Given the description of an element on the screen output the (x, y) to click on. 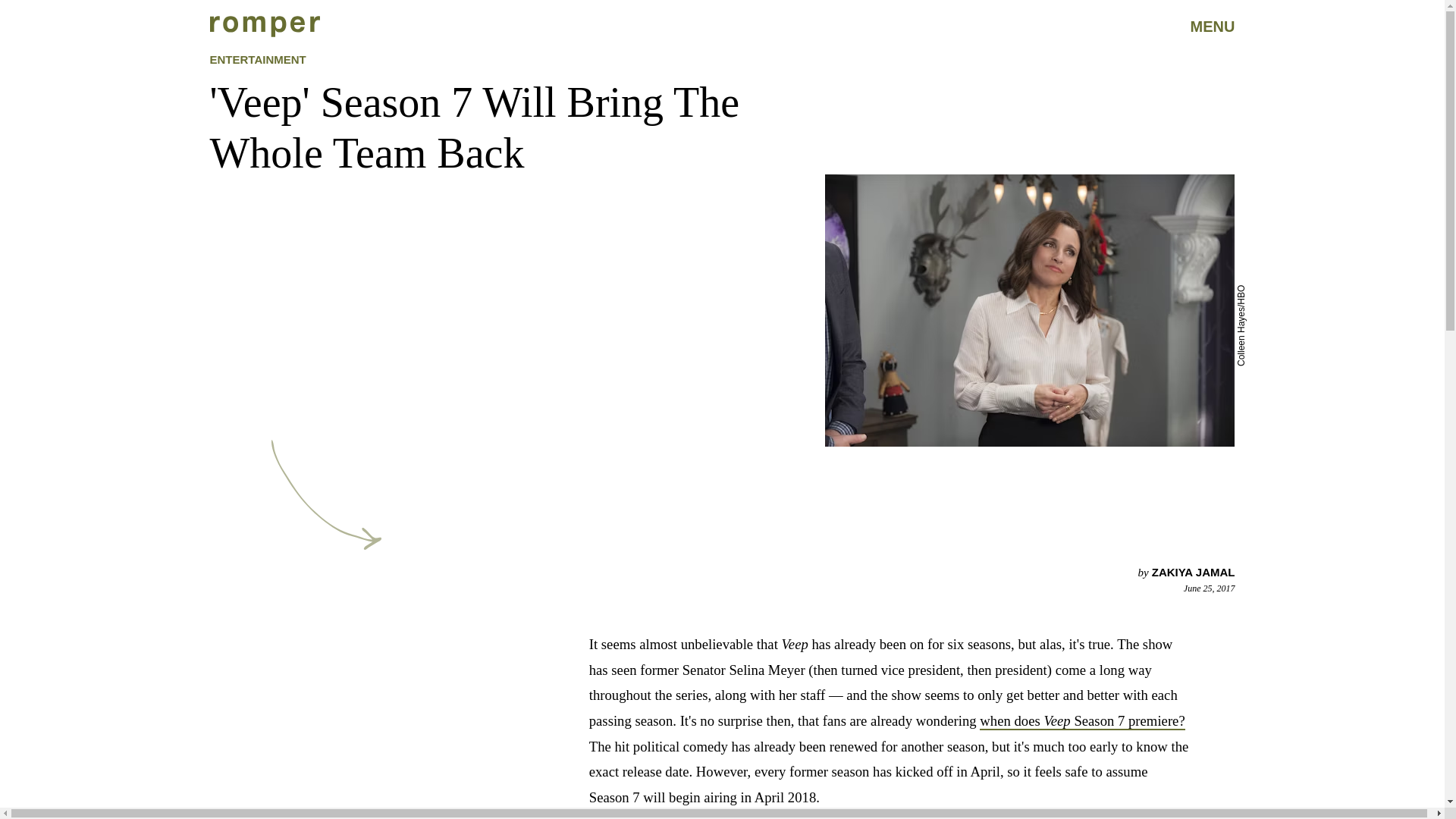
when does Veep Season 7 premiere? (1082, 721)
Romper (263, 26)
